Given the description of an element on the screen output the (x, y) to click on. 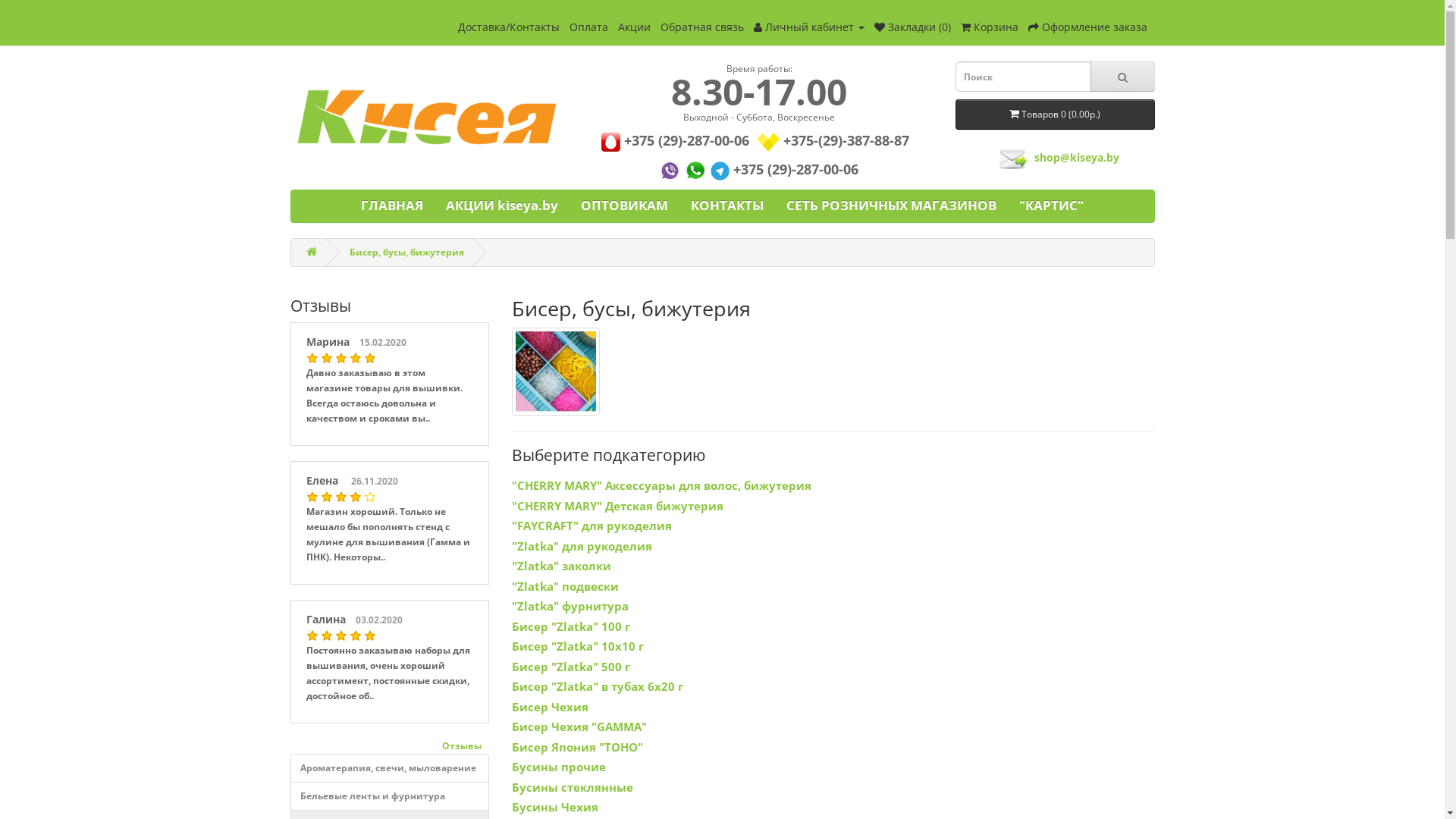
shop@kiseya.by Element type: text (1076, 157)
